Given the description of an element on the screen output the (x, y) to click on. 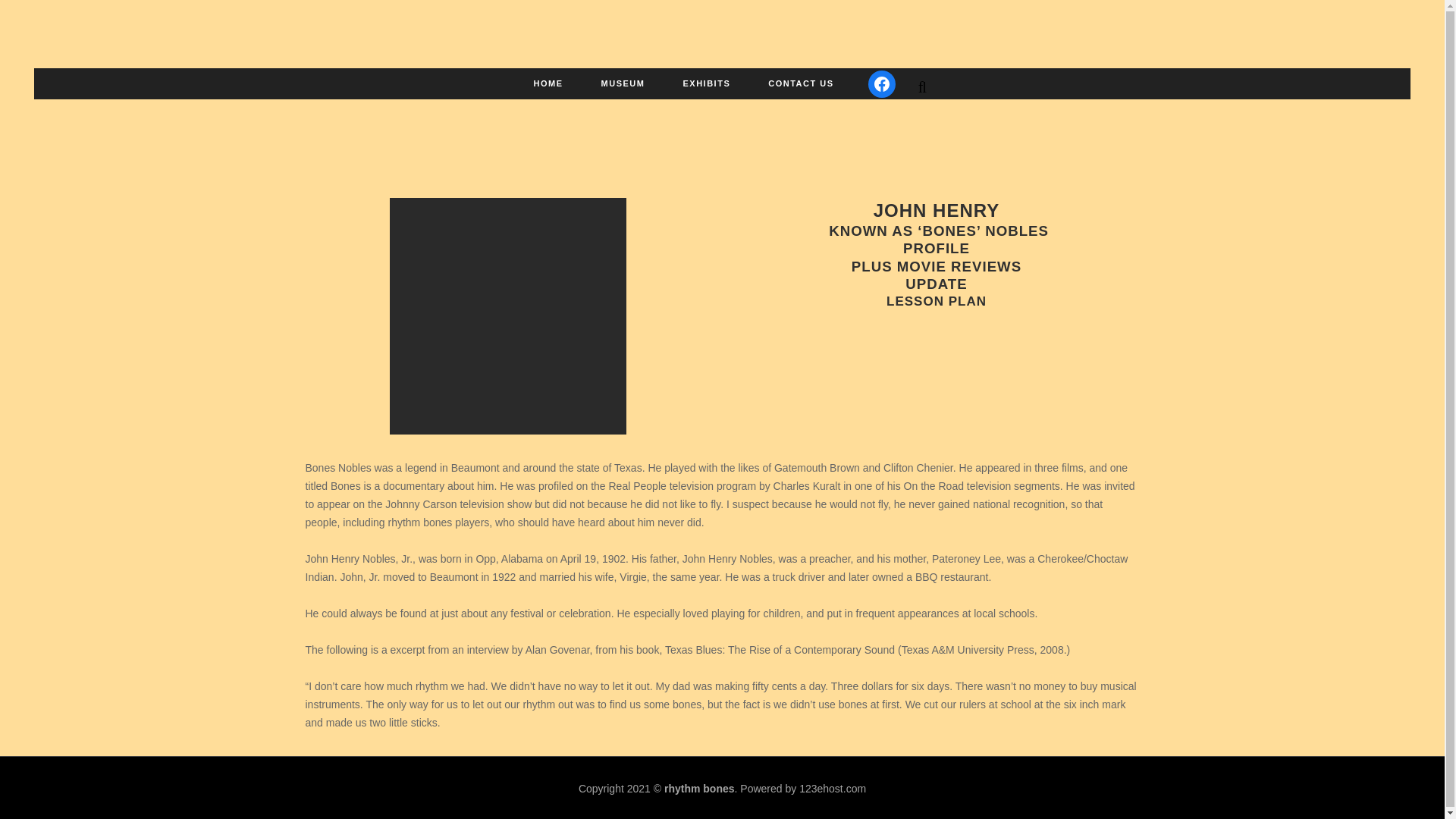
PROFILE (935, 248)
UPDATE (935, 283)
CONTACT US (800, 83)
Facebook (881, 83)
EXHIBITS (706, 83)
MUSEUM (622, 83)
LESSON PLAN (936, 301)
HOME (548, 83)
